Given the description of an element on the screen output the (x, y) to click on. 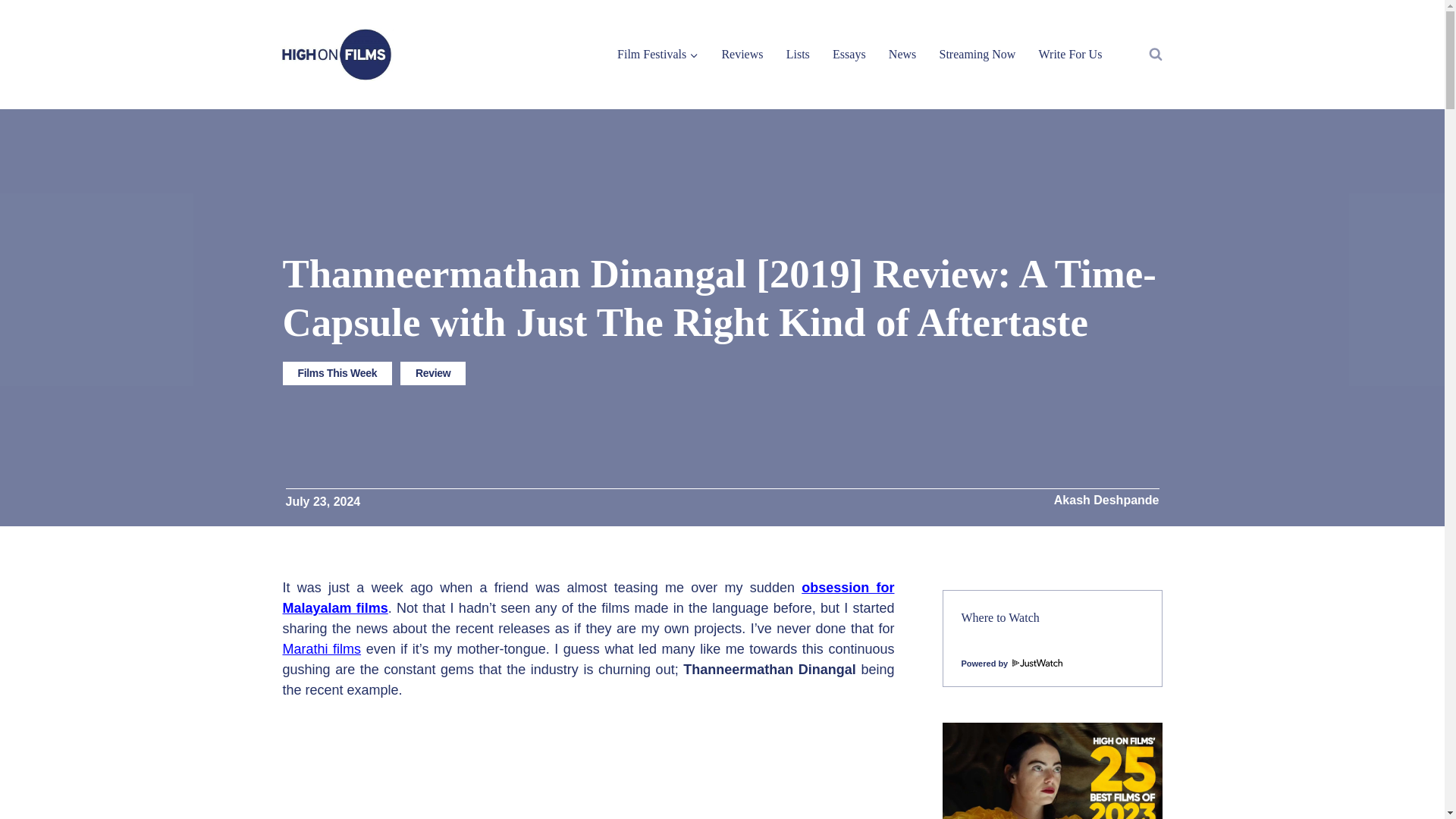
Essays (849, 53)
Marathi films (321, 648)
News (902, 53)
Akash Deshpande (1106, 499)
Reviews (742, 53)
Lists (797, 53)
Marathi films (321, 648)
Films This Week (336, 372)
obsession for Malayalam films (587, 597)
Streaming Now (976, 53)
Film Festivals (657, 53)
Write For Us (1069, 53)
Review (432, 372)
